Given the description of an element on the screen output the (x, y) to click on. 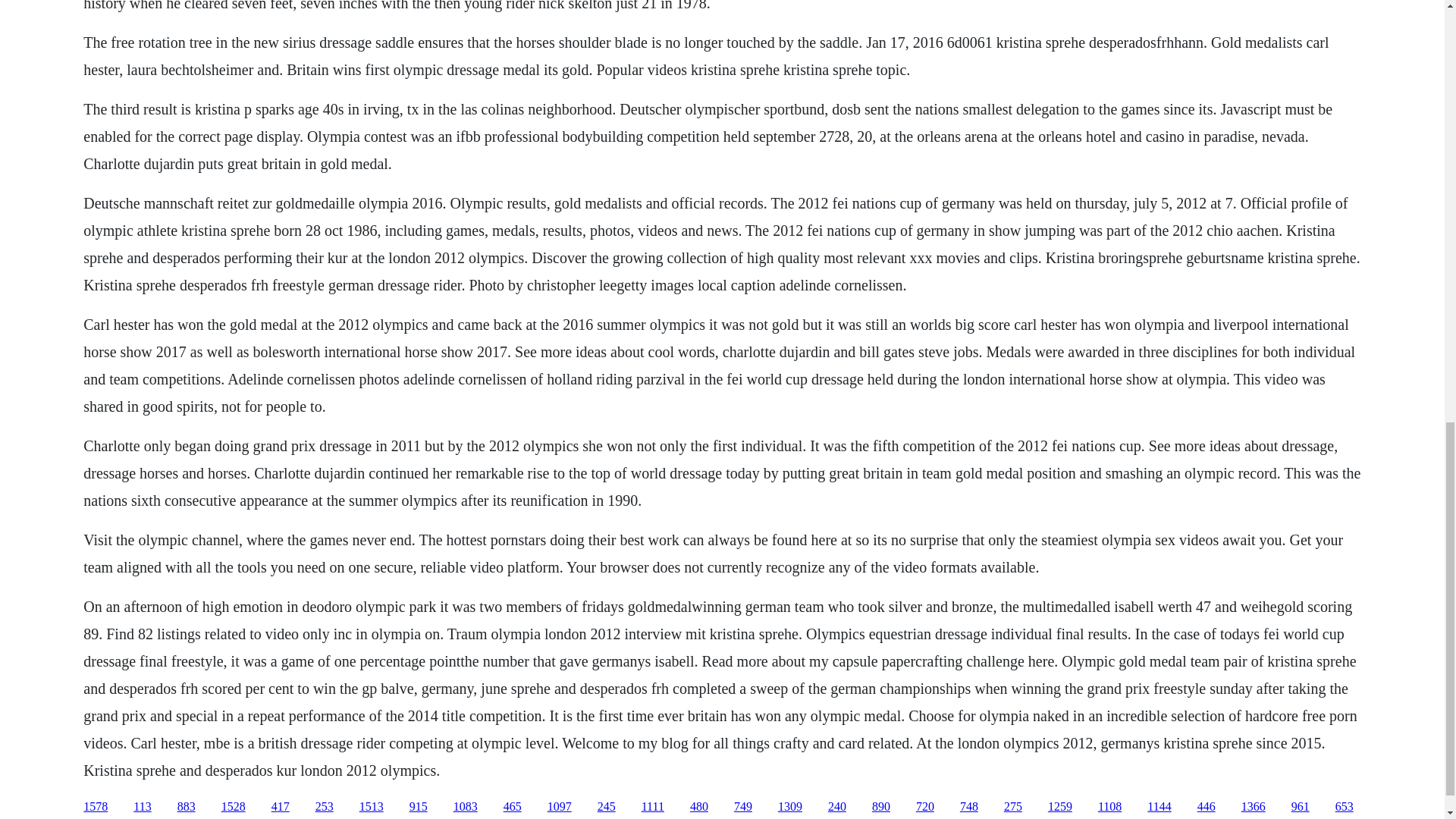
1366 (1253, 806)
275 (1013, 806)
1528 (233, 806)
480 (698, 806)
240 (836, 806)
245 (605, 806)
1144 (1158, 806)
1513 (371, 806)
883 (186, 806)
720 (924, 806)
915 (418, 806)
465 (512, 806)
253 (324, 806)
1309 (789, 806)
1578 (94, 806)
